Given the description of an element on the screen output the (x, y) to click on. 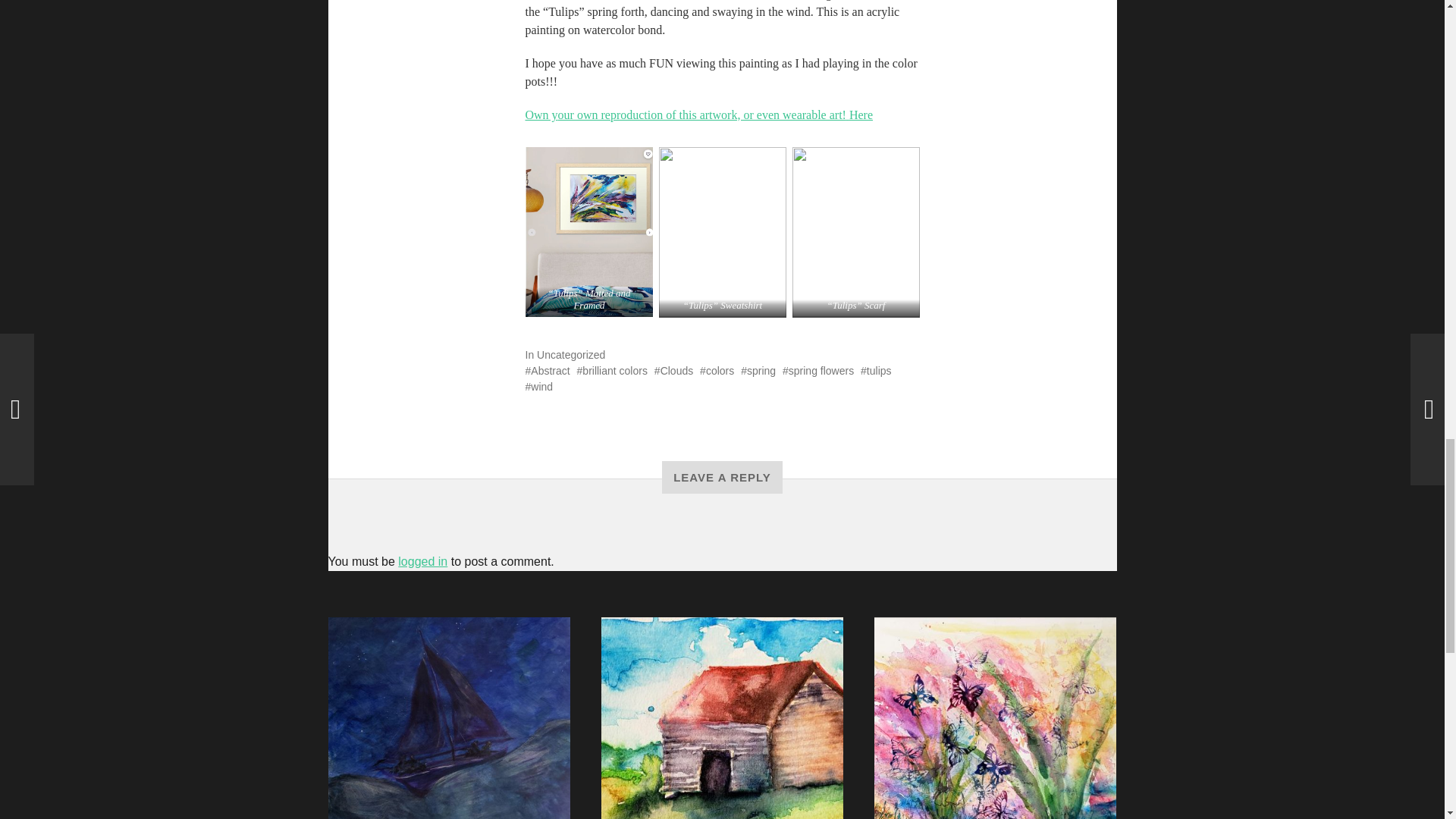
tulips (875, 370)
spring (758, 370)
Clouds (673, 370)
logged in (421, 561)
Abstract (546, 370)
spring flowers (818, 370)
our own reproduction of this artwork, or even wearable art! (701, 114)
Own y (540, 114)
Here (860, 114)
wind (538, 386)
brilliant colors (611, 370)
Uncategorized (571, 354)
colors (716, 370)
